Given the description of an element on the screen output the (x, y) to click on. 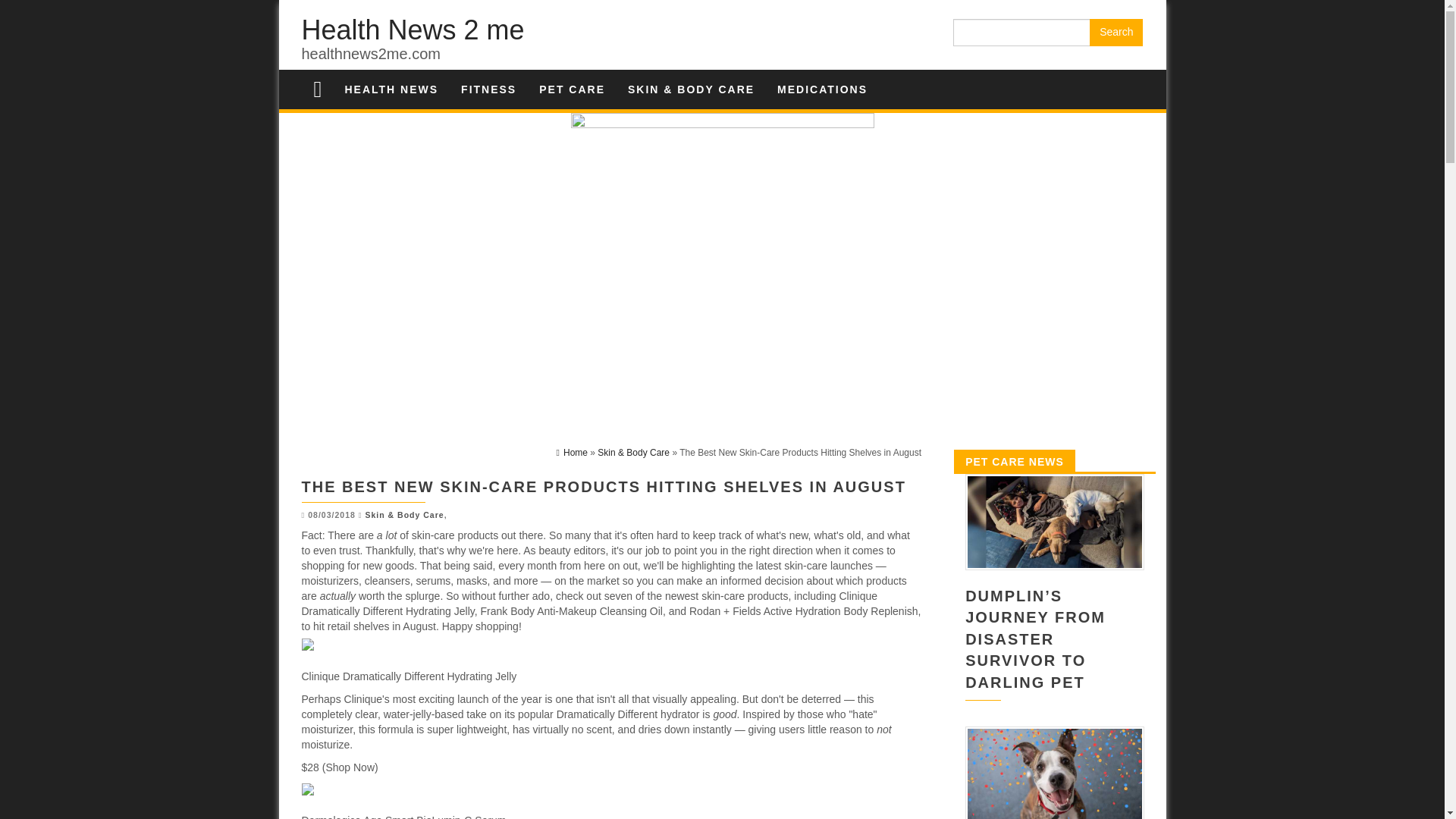
Medications (822, 89)
Health News (391, 89)
FITNESS (488, 89)
Home (572, 452)
Health News 2 me (412, 29)
Search (1115, 31)
Health News 2 me (412, 29)
HEALTH NEWS (391, 89)
PET CARE (571, 89)
MEDICATIONS (822, 89)
